Given the description of an element on the screen output the (x, y) to click on. 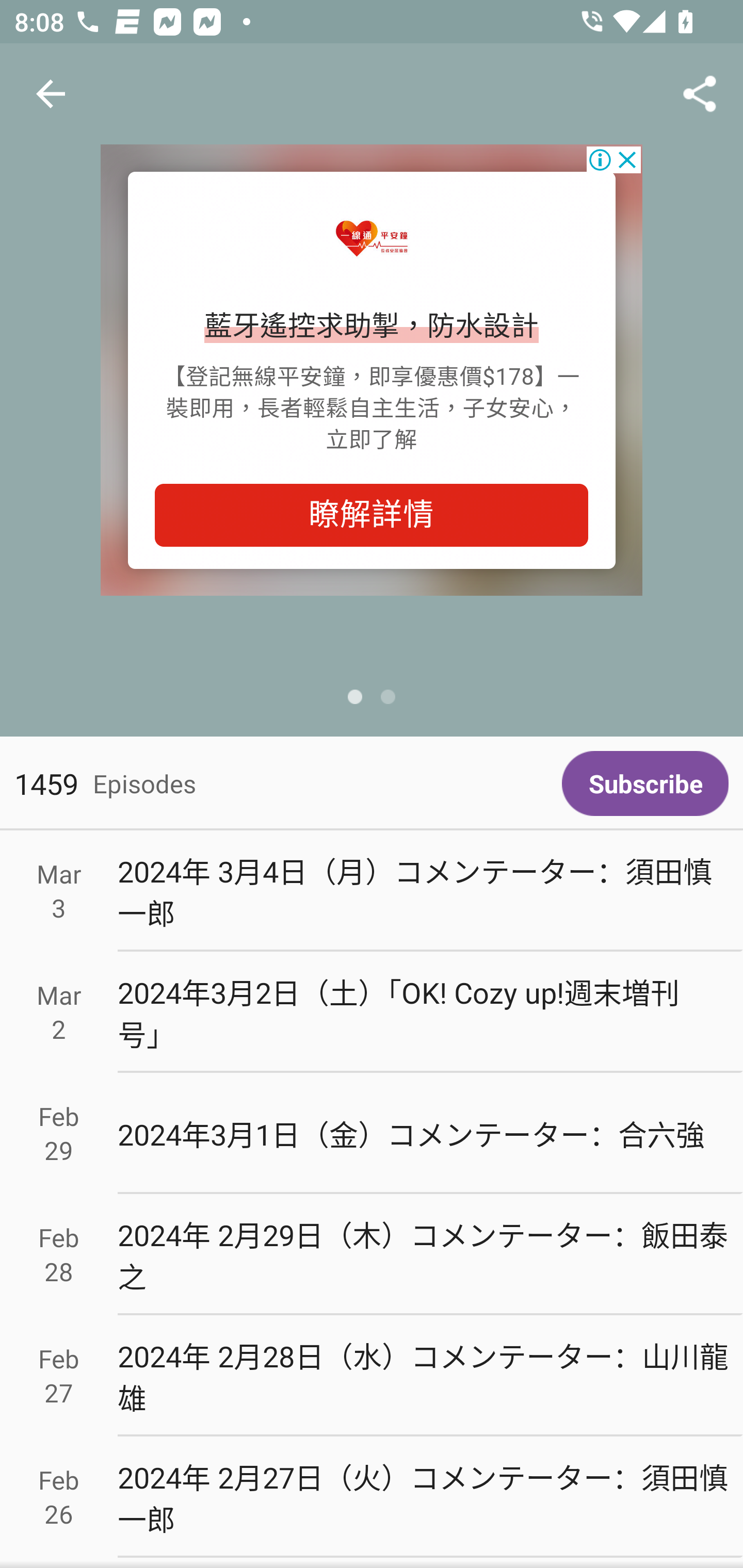
Navigate up (50, 93)
Share... (699, 93)
藍牙遙控求助掣，防水設計 (371, 327)
瞭解詳情 (371, 514)
Subscribe (644, 783)
Mar 3 2024年 3月4日（月）コメンテーター：須田慎一郎 (371, 891)
Mar 2 2024年3月2日（土）「OK! Cozy up!週末増刊号」 (371, 1011)
Feb 29 2024年3月1日（金）コメンテーター：合六強 (371, 1133)
Feb 28 2024年 2月29日（木）コメンテーター：飯田泰之 (371, 1254)
Feb 27 2024年 2月28日（水）コメンテーター：山川龍雄 (371, 1375)
Feb 26 2024年 2月27日（火）コメンテーター：須田慎一郎 (371, 1496)
